Given the description of an element on the screen output the (x, y) to click on. 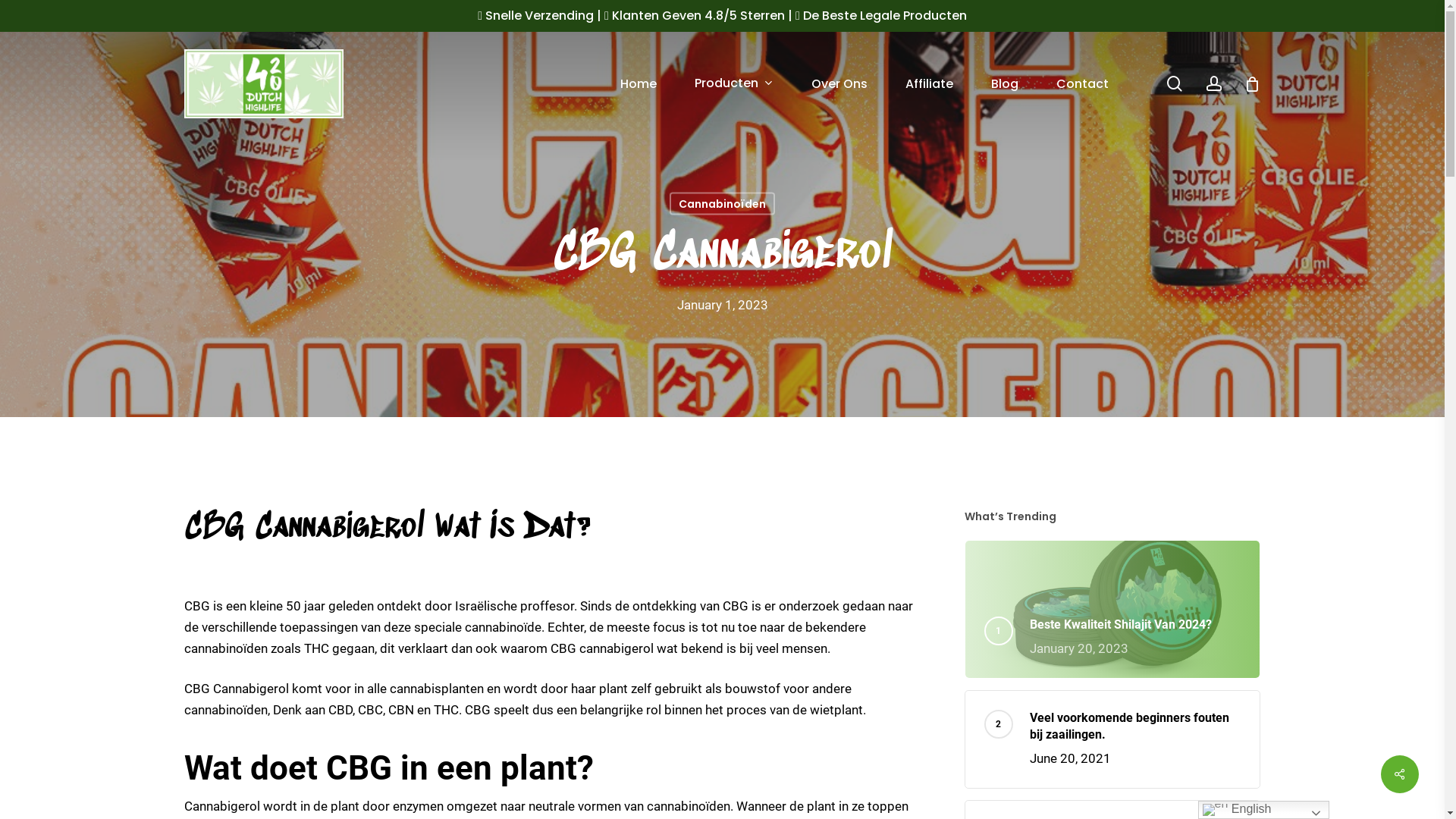
Producten Element type: text (732, 83)
Home Element type: text (637, 83)
Beste Wietzaden Element type: hover (263, 83)
search Element type: text (1173, 83)
Blog Element type: text (1004, 83)
Beste Kwaliteit Shilajit Van 2024?
January 20, 2023 Element type: text (1135, 637)
Contact Element type: text (1082, 83)
account Element type: text (1213, 83)
Affiliate Element type: text (928, 83)
Over Ons Element type: text (838, 83)
